Given the description of an element on the screen output the (x, y) to click on. 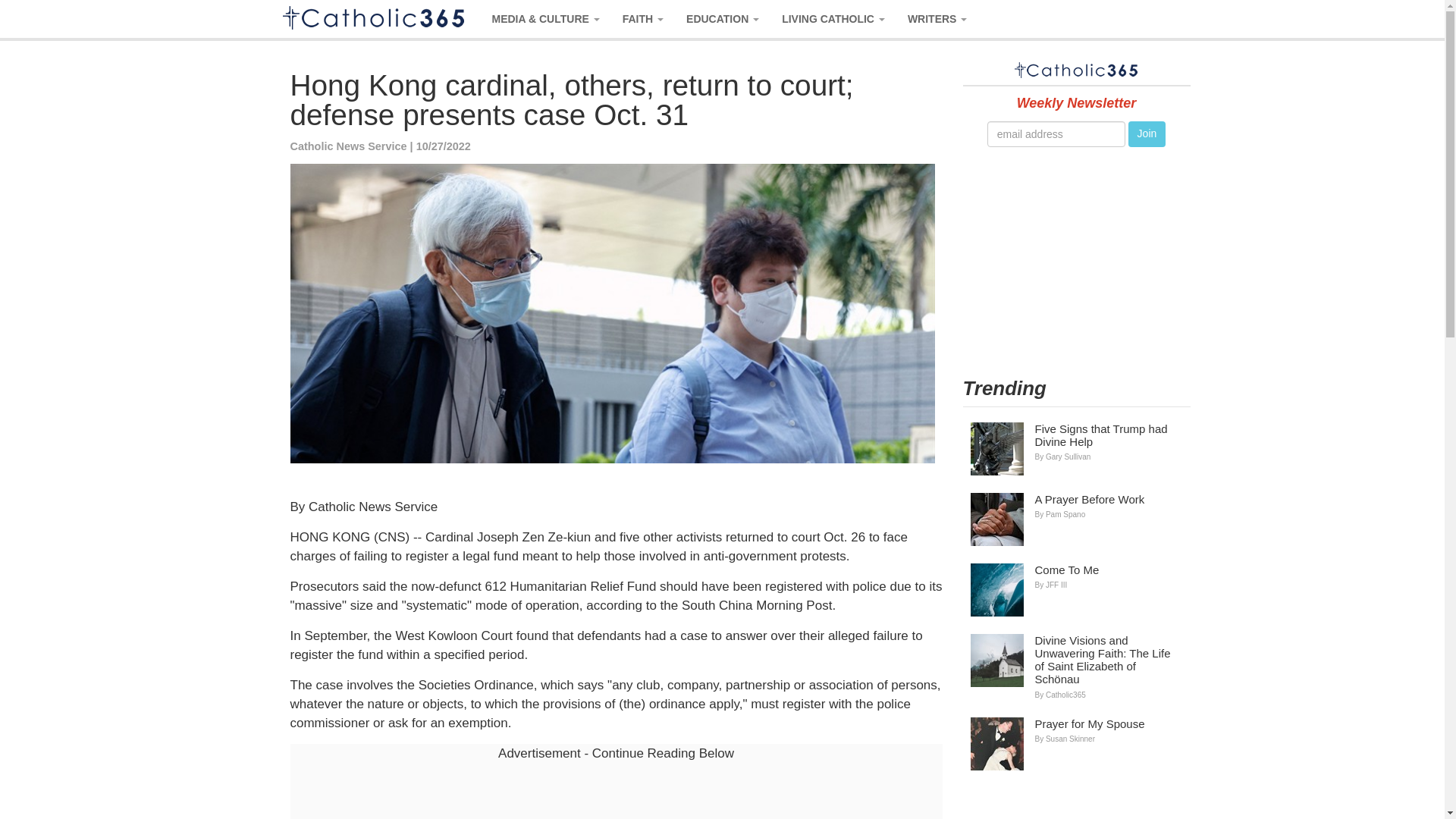
Join (1147, 134)
WRITERS (937, 18)
EDUCATION (722, 18)
FAITH (643, 18)
LIVING CATHOLIC (833, 18)
